Given the description of an element on the screen output the (x, y) to click on. 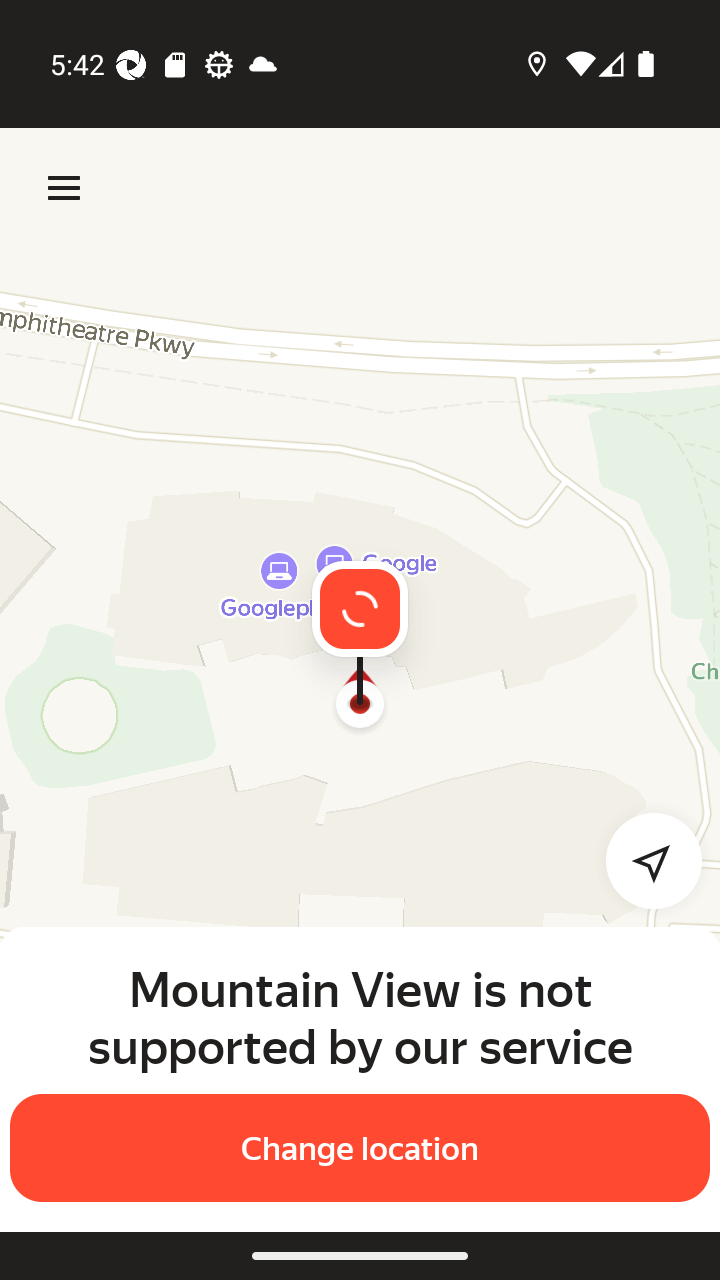
Menu Menu Menu (64, 188)
Detect my location (641, 860)
Mountain View is not supported by our service (360, 1017)
Change location (359, 1147)
